Given the description of an element on the screen output the (x, y) to click on. 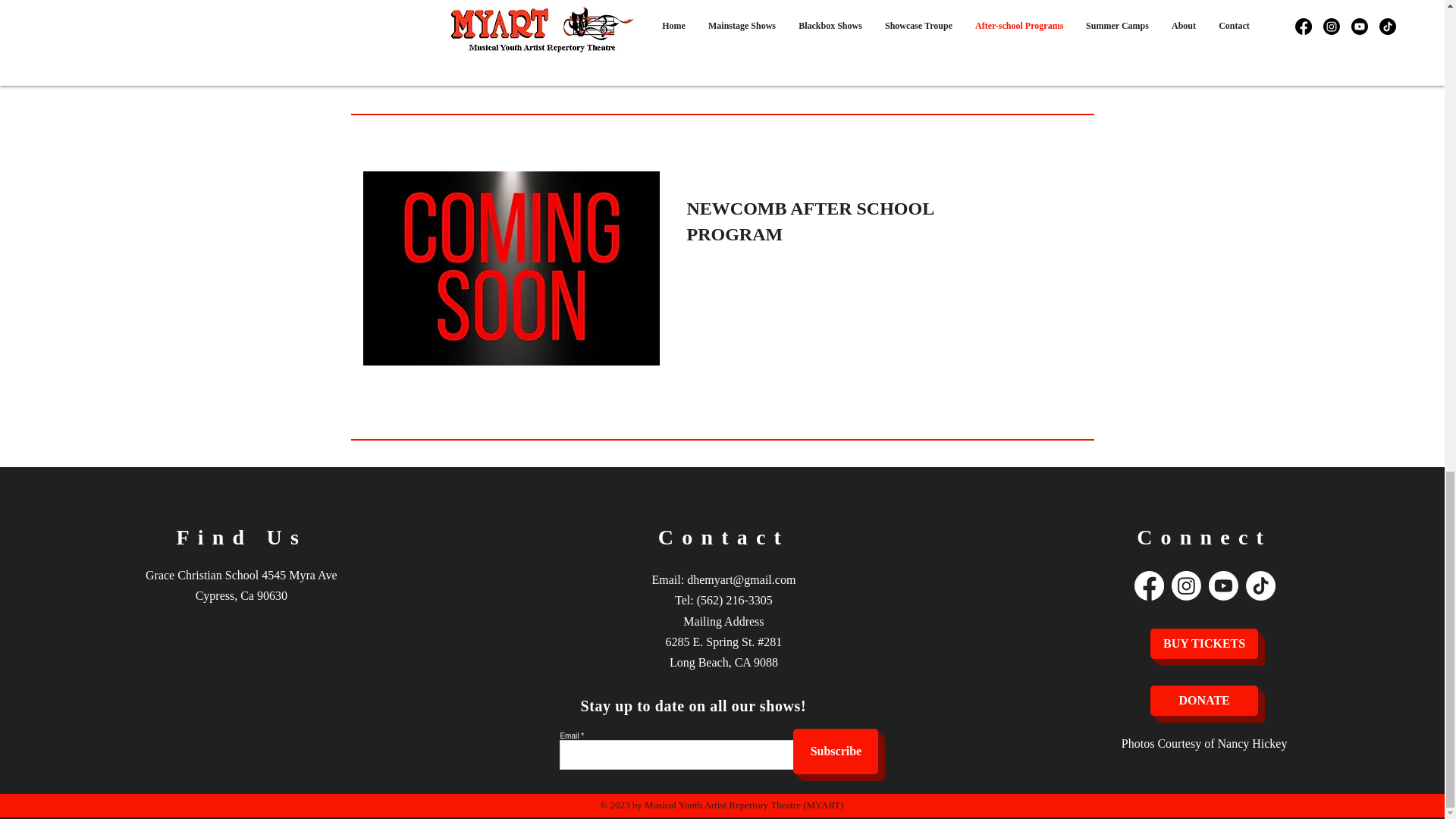
BUY TICKETS (1203, 643)
Subscribe (835, 750)
Learn More (740, 69)
DONATE (1203, 700)
Photos Courtesy of Nancy Hickey (1204, 743)
Google Maps (240, 697)
